Given the description of an element on the screen output the (x, y) to click on. 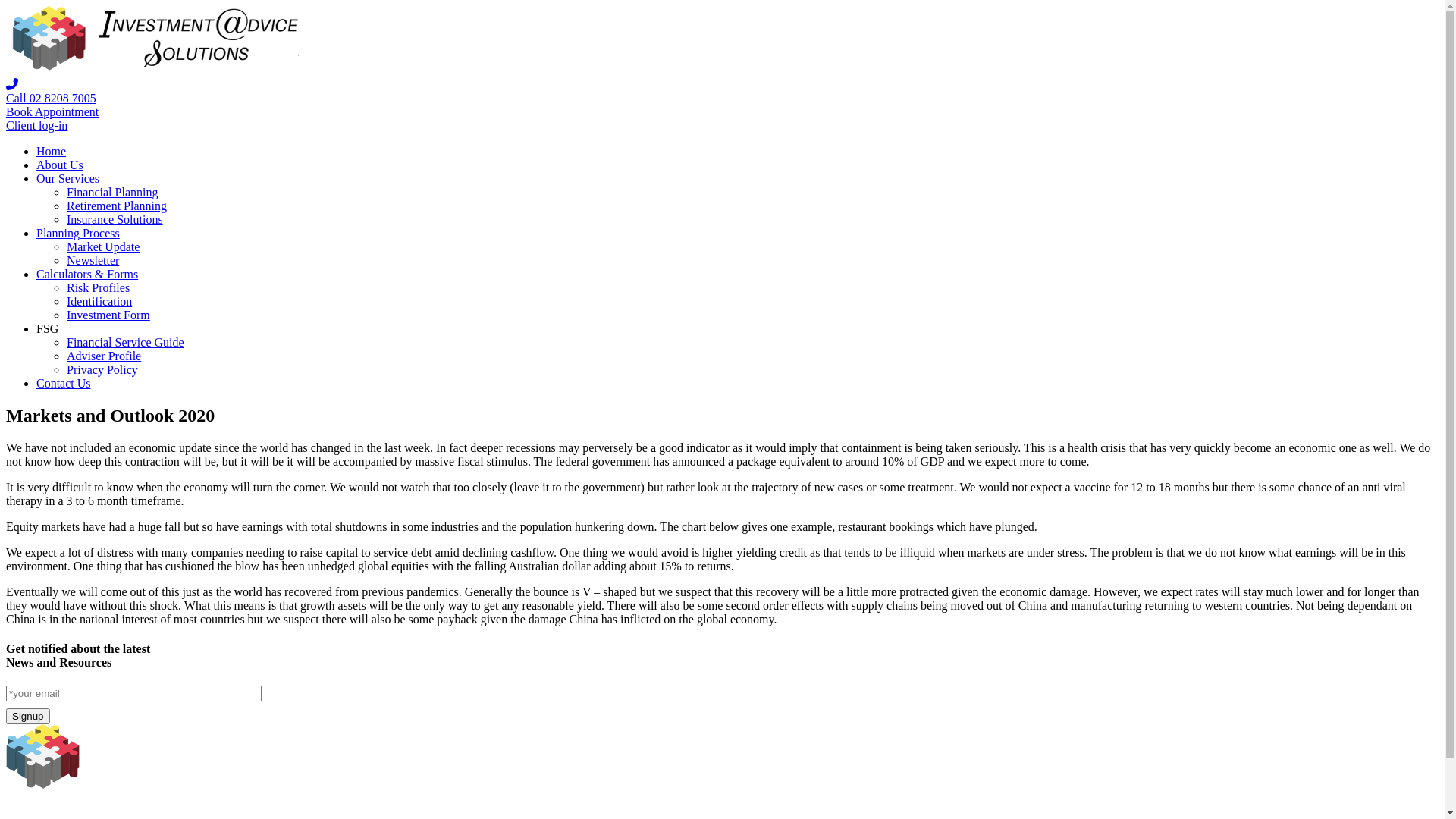
Financial Service Guide Element type: text (125, 341)
Our Services Element type: text (67, 178)
Market Update Element type: text (102, 246)
inner-logo Element type: hover (152, 70)
Newsletter Element type: text (92, 260)
Identification Element type: text (98, 300)
Insurance Solutions Element type: text (114, 219)
About Us Element type: text (59, 164)
Investment Form Element type: text (108, 314)
Risk Profiles Element type: text (97, 287)
Contact Us Element type: text (63, 382)
Call 02 8208 7005 Element type: text (51, 97)
FSG Element type: text (47, 328)
Home Element type: text (50, 150)
Calculators & Forms Element type: text (87, 273)
Planning Process Element type: text (77, 232)
Privacy Policy Element type: text (102, 369)
Financial Planning Element type: text (111, 191)
Signup Element type: text (28, 716)
Book Appointment Element type: text (52, 111)
logo Element type: hover (148, 784)
Adviser Profile Element type: text (103, 355)
Retirement Planning Element type: text (116, 205)
Client log-in Element type: text (36, 125)
